Given the description of an element on the screen output the (x, y) to click on. 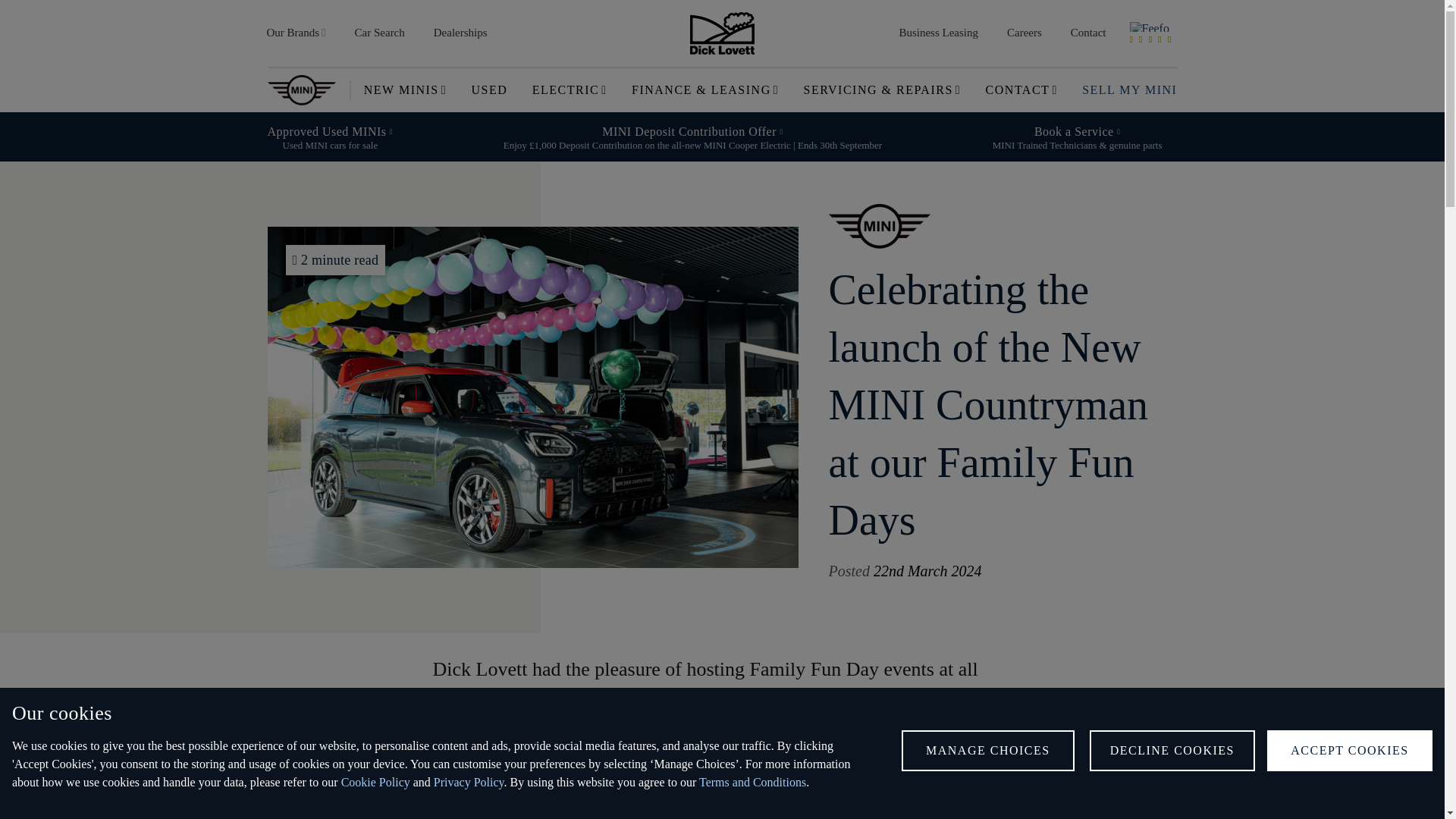
New MINIs (405, 89)
Electric (569, 89)
Car Search (379, 32)
Business Leasing (937, 32)
Our Brands (295, 32)
Contact (1089, 32)
Careers (1024, 32)
ELECTRIC (569, 89)
Dealerships (460, 32)
NEW MINIS (405, 89)
